Given the description of an element on the screen output the (x, y) to click on. 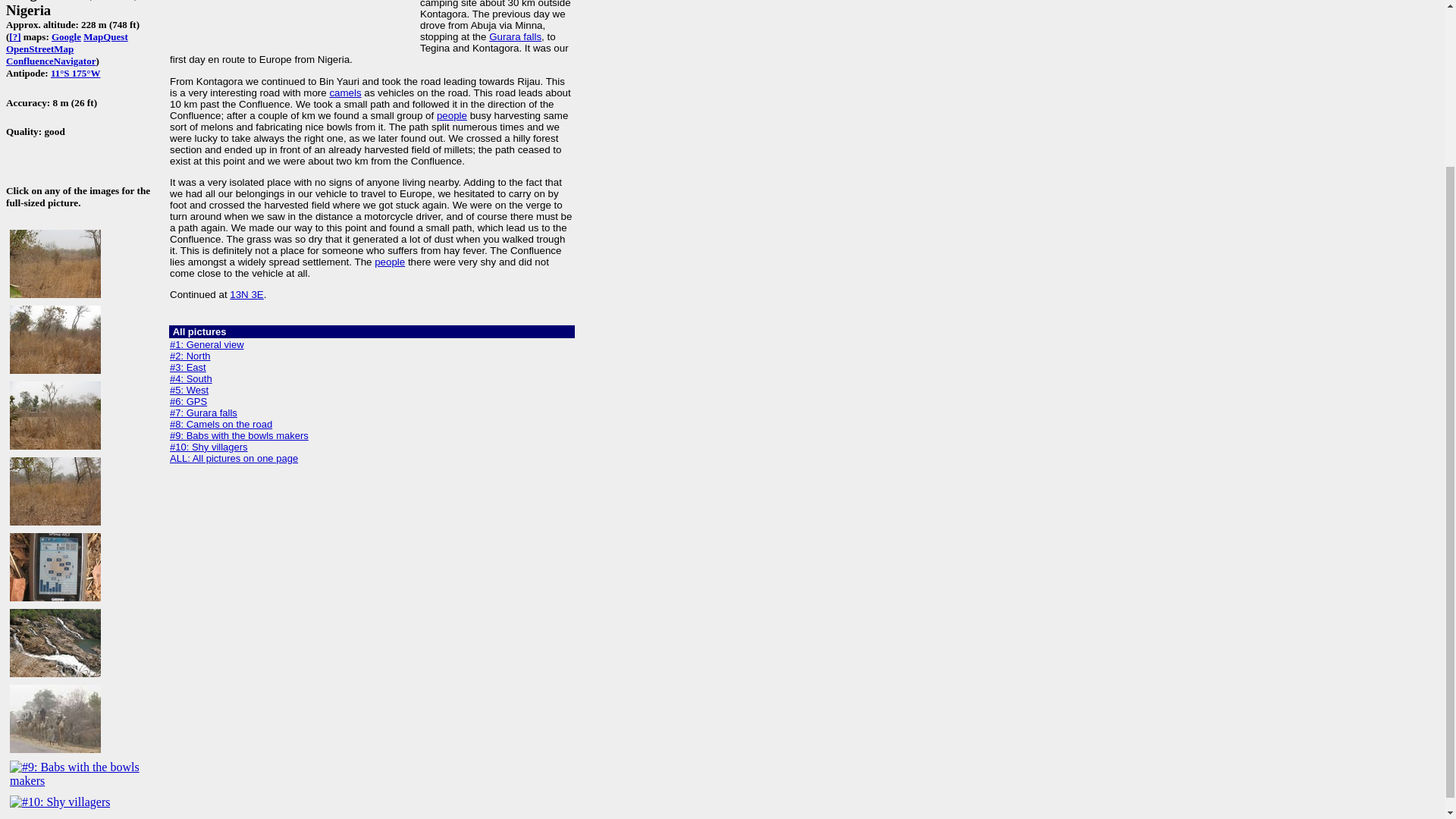
ConfluenceNavigator (50, 60)
13N 3E (246, 294)
camels (345, 92)
people (389, 261)
MapQuest (105, 36)
The confluence opposite this confluence on the globe (75, 72)
people (451, 115)
OpenStreetMap (39, 48)
Gurara falls (515, 36)
Google (65, 36)
